Given the description of an element on the screen output the (x, y) to click on. 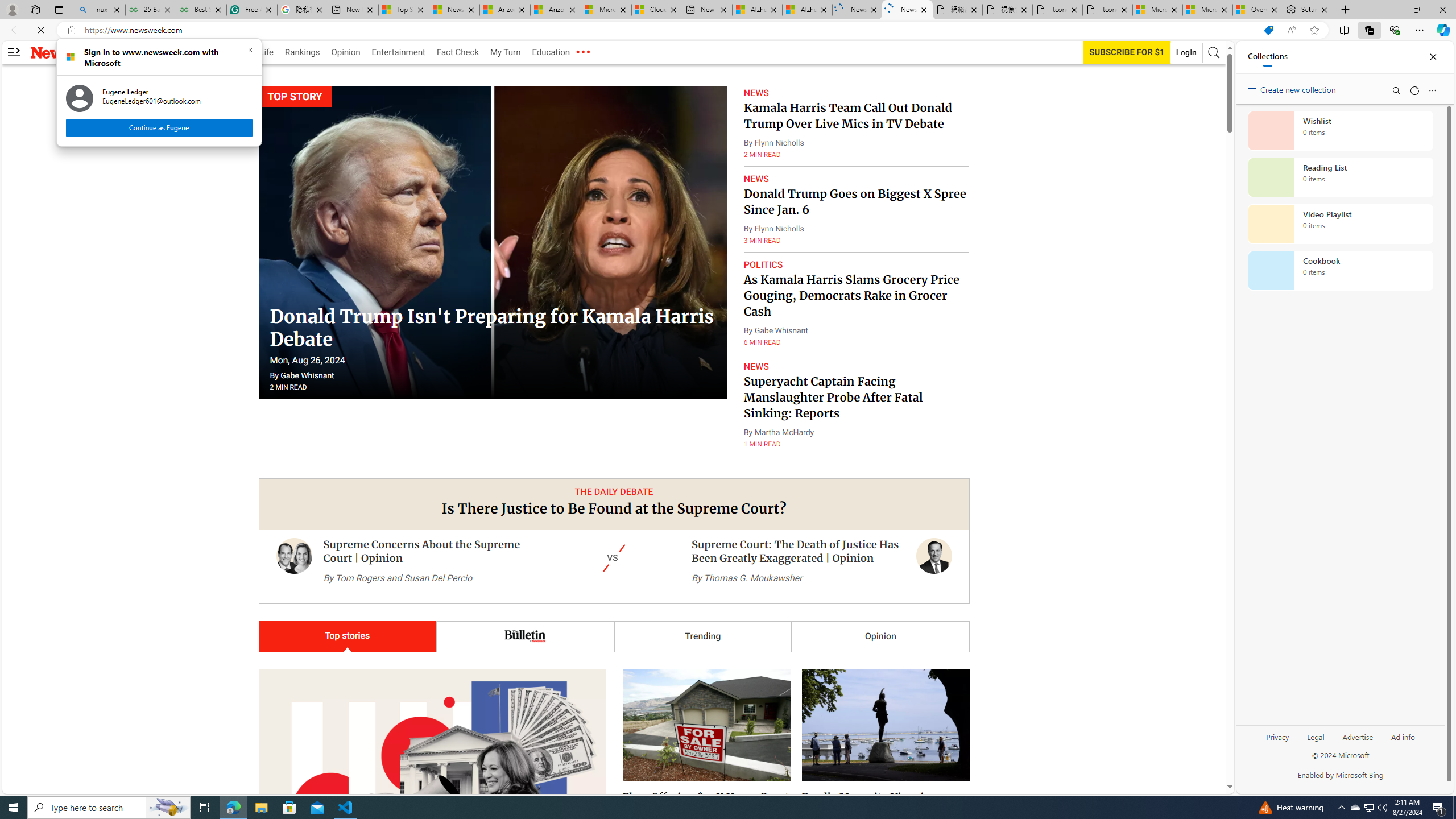
Video Playlist collection, 0 items (1339, 223)
By Aliss Higham (286, 749)
Rankings (302, 52)
By Thomas G. Moukawsher (746, 577)
Action Center, 1 new notification (1439, 807)
By Suzanne Blake (653, 736)
Education (550, 52)
Opinion (345, 52)
NEWS (756, 366)
